Given the description of an element on the screen output the (x, y) to click on. 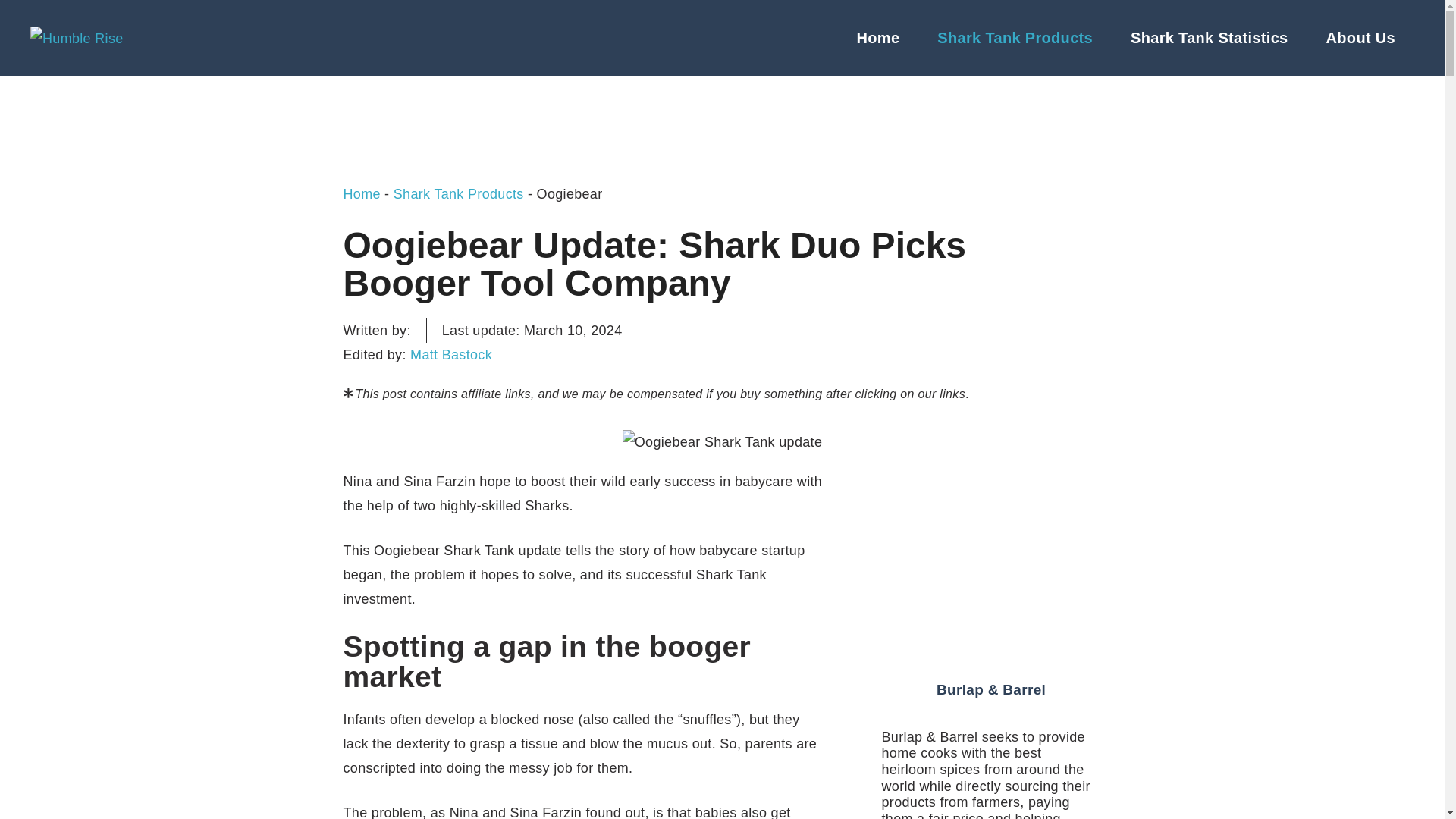
Home (361, 193)
Shark Tank Products (1015, 37)
Home (877, 37)
Shark Tank Products (458, 193)
Shark Tank Statistics (1209, 37)
Matt Bastock (451, 354)
About Us (1360, 37)
